Given the description of an element on the screen output the (x, y) to click on. 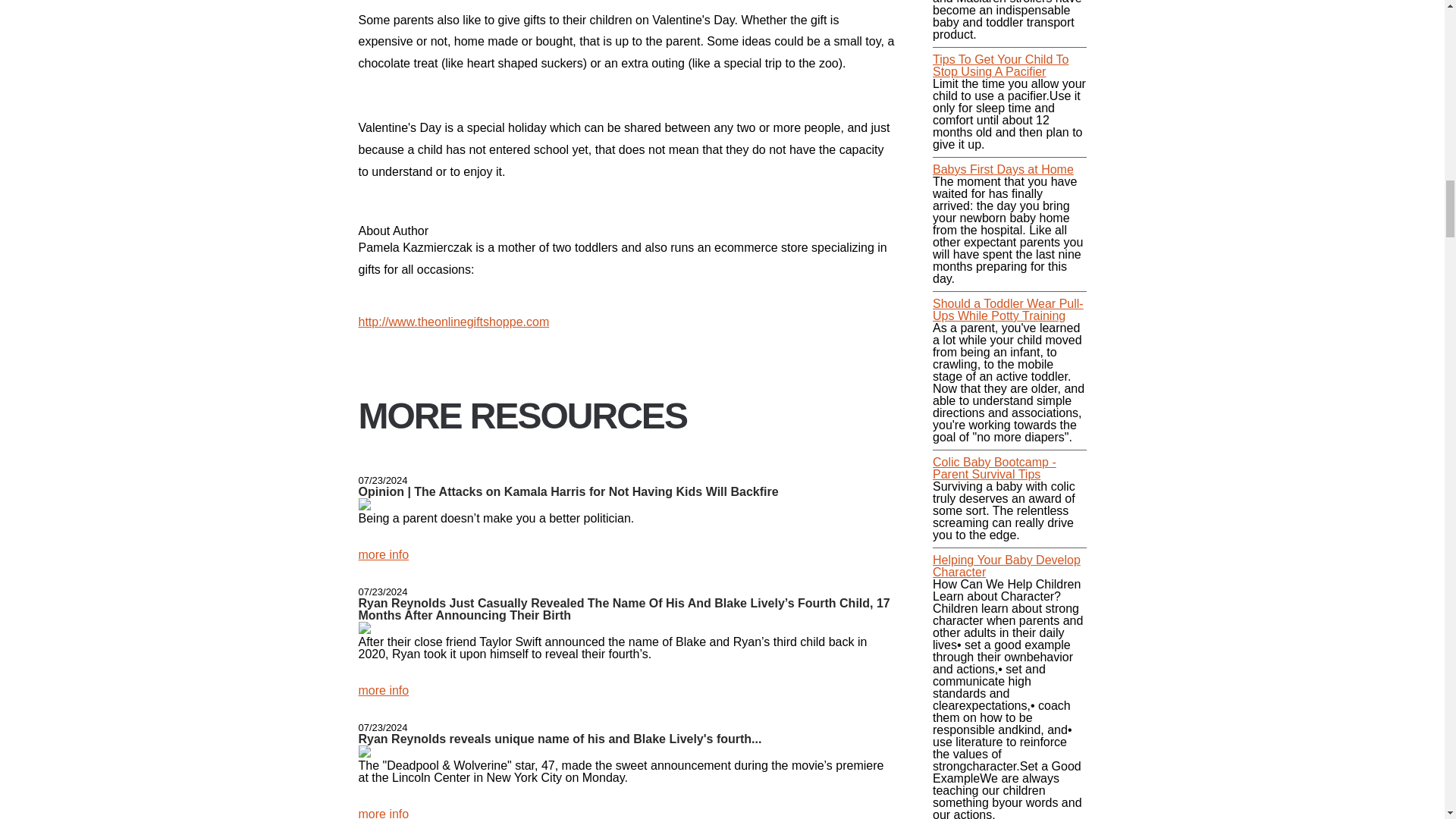
more info (383, 554)
more info (383, 813)
more info (383, 689)
